Given the description of an element on the screen output the (x, y) to click on. 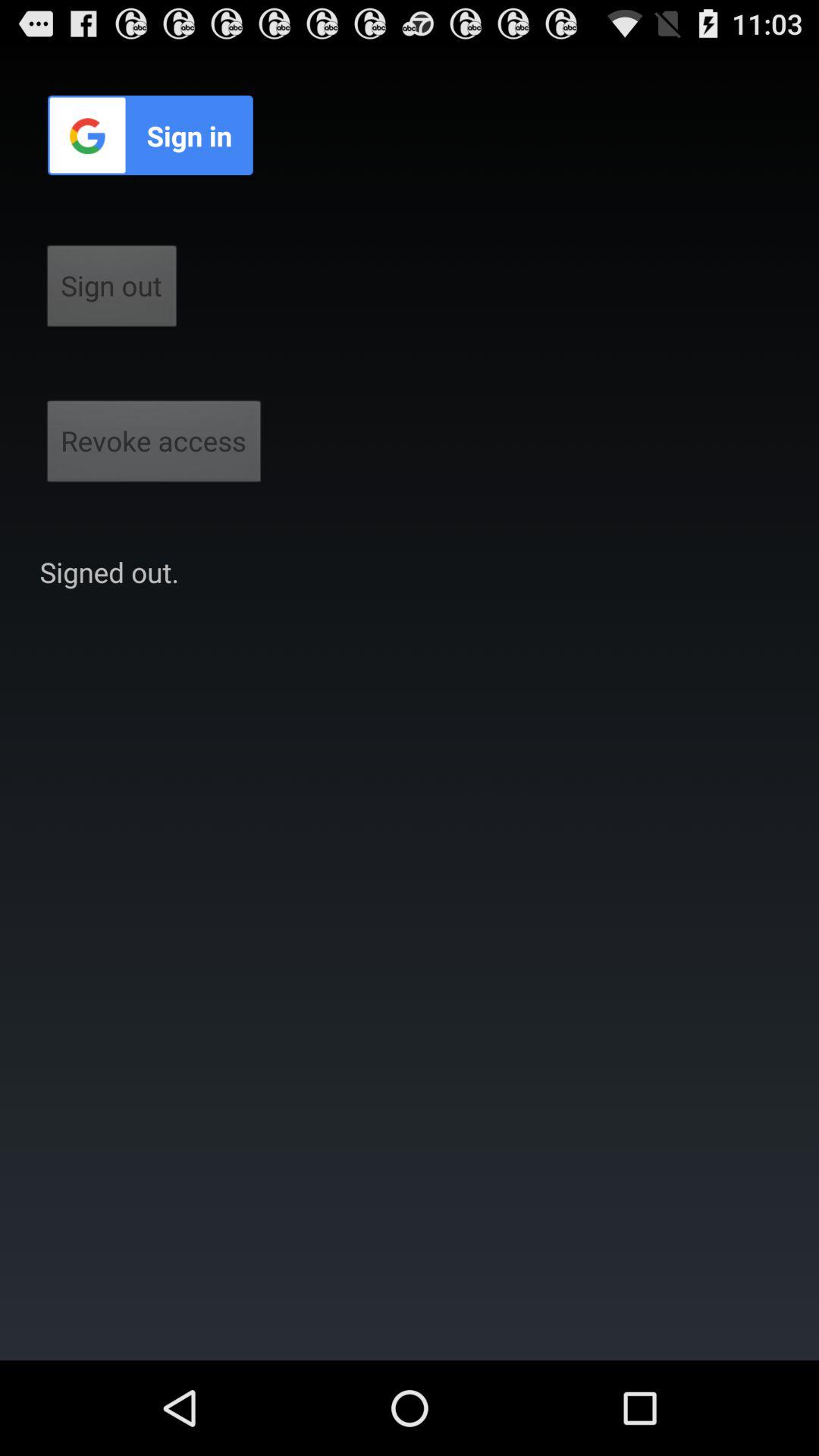
open sign in icon (150, 135)
